Given the description of an element on the screen output the (x, y) to click on. 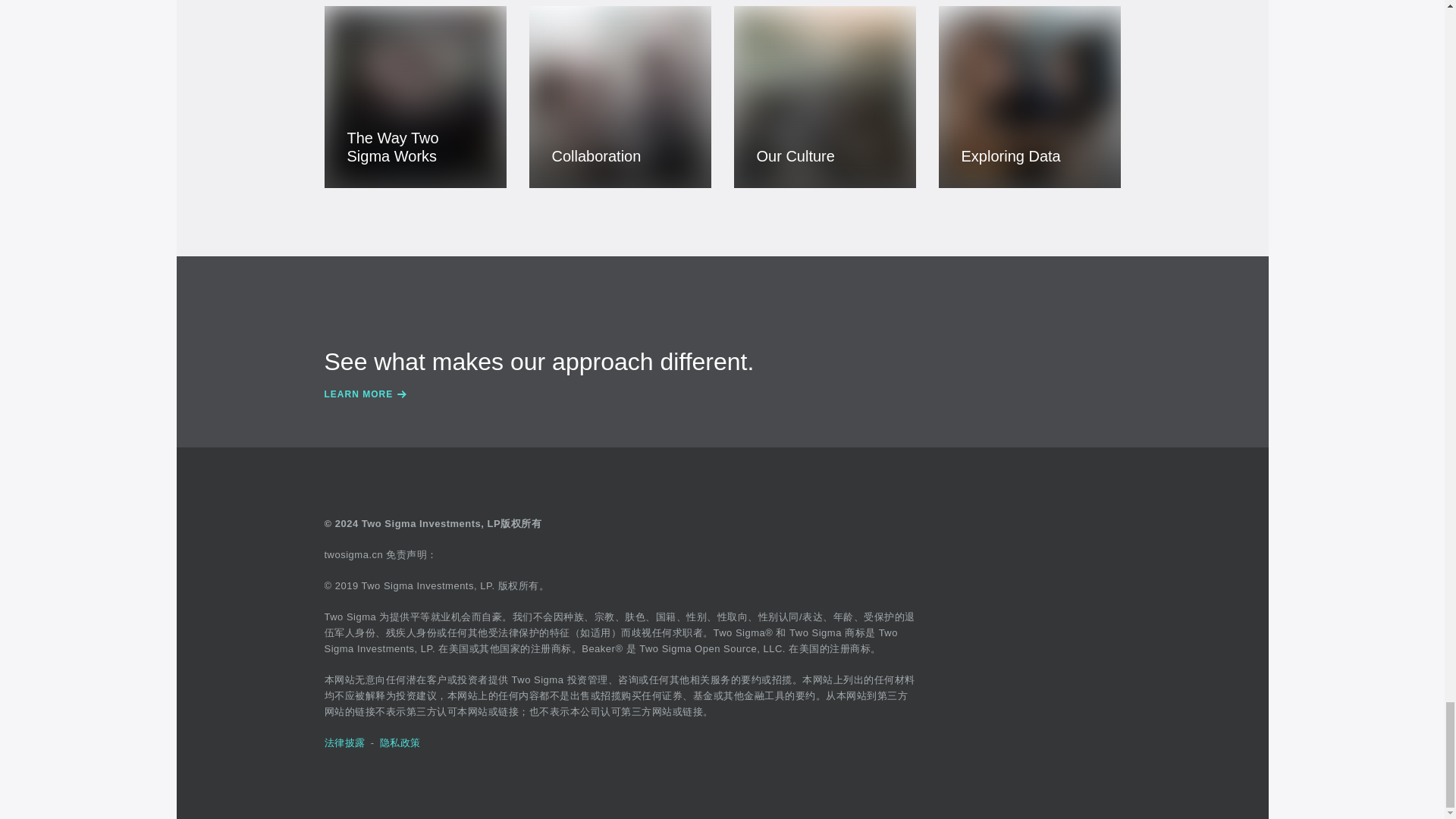
Exploring Data (1030, 96)
The Way Two Sigma Works (415, 96)
Collaboration (620, 96)
Our Culture (824, 96)
LEARN MORE (722, 394)
